Given the description of an element on the screen output the (x, y) to click on. 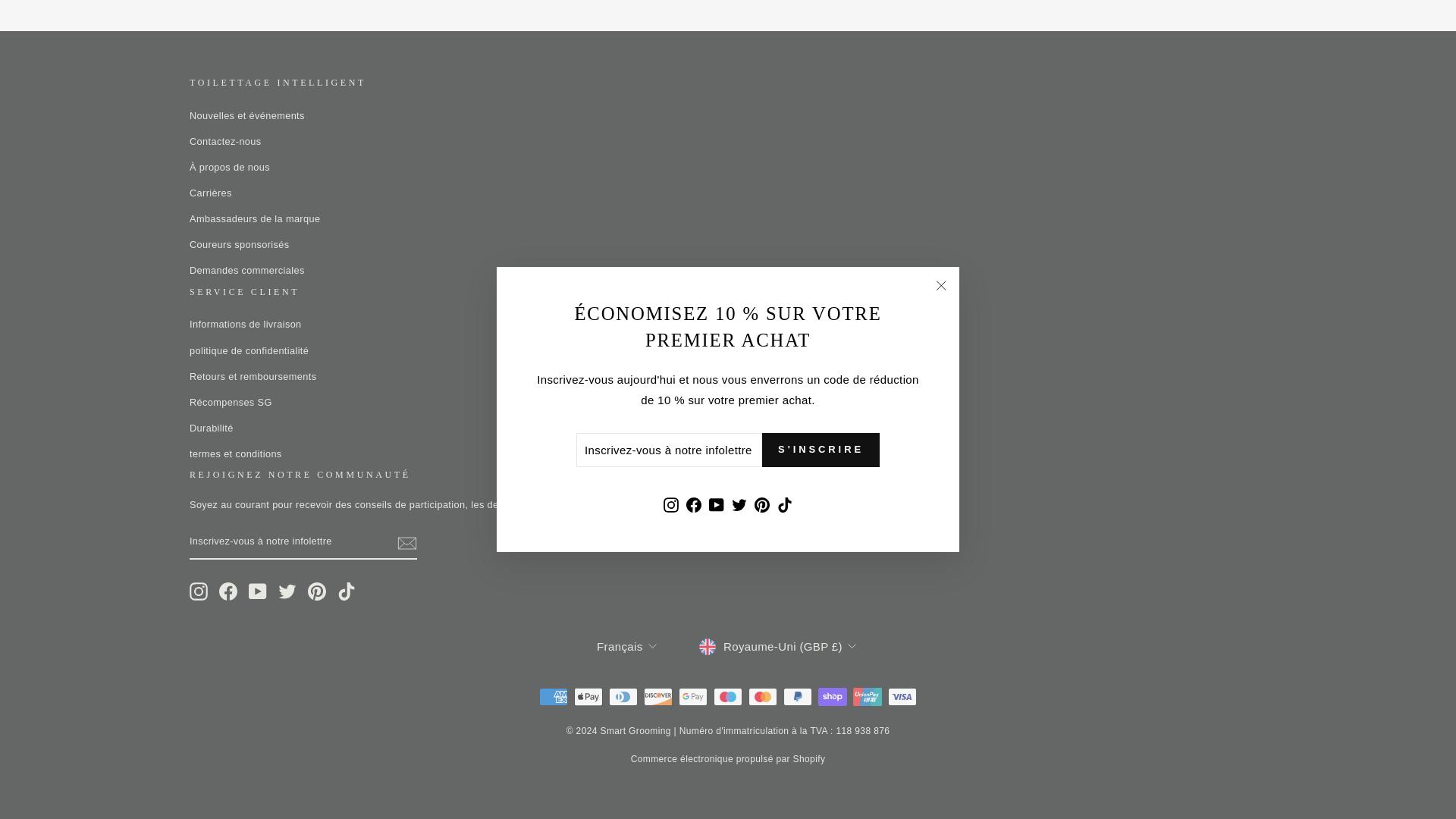
icon-email (406, 543)
instagram (198, 591)
American Express (552, 696)
Apple Pay (587, 696)
Smart Grooming sur Instagram (198, 591)
twitter (287, 591)
